Given the description of an element on the screen output the (x, y) to click on. 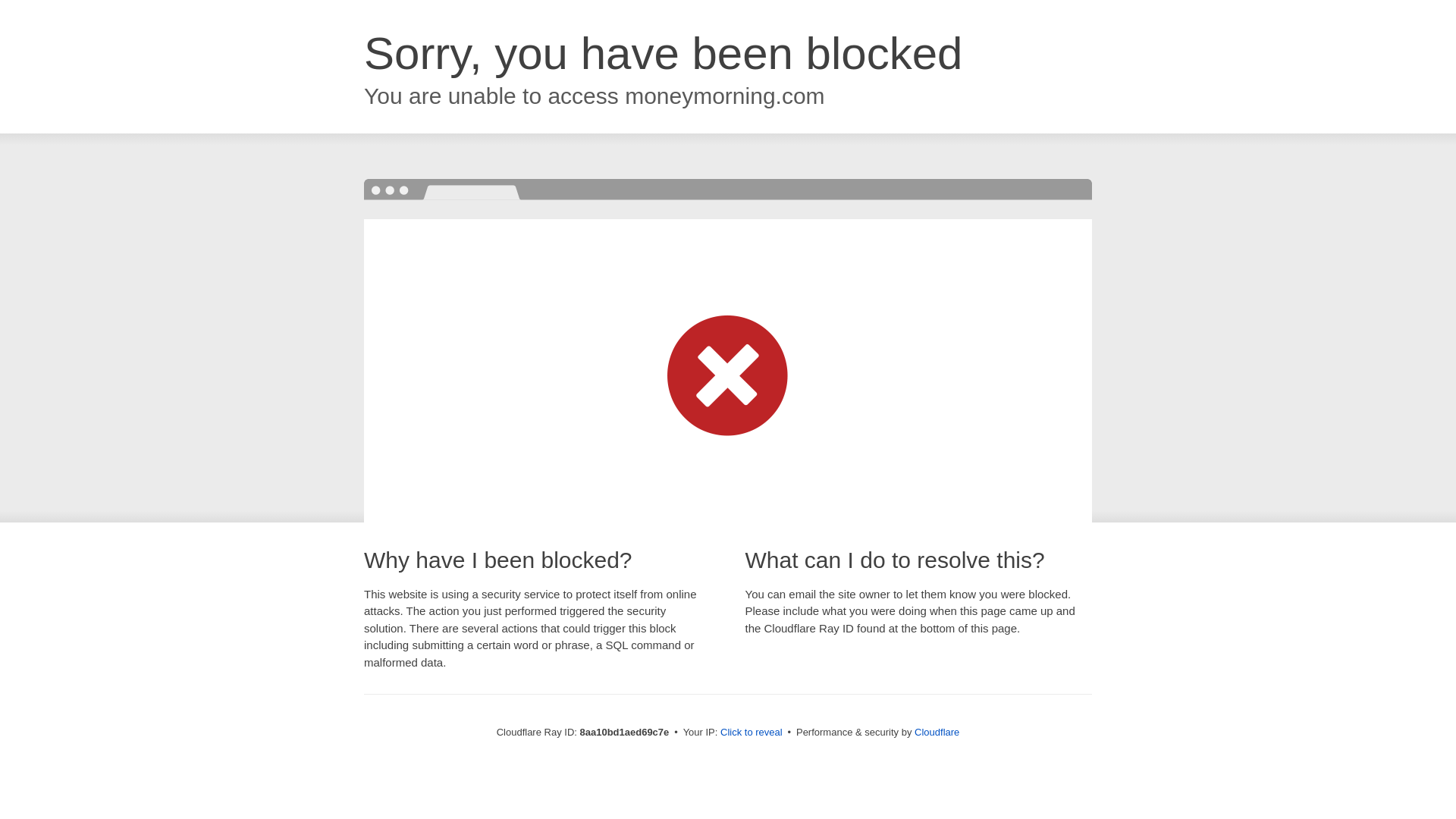
Click to reveal (751, 732)
Cloudflare (936, 731)
